Given the description of an element on the screen output the (x, y) to click on. 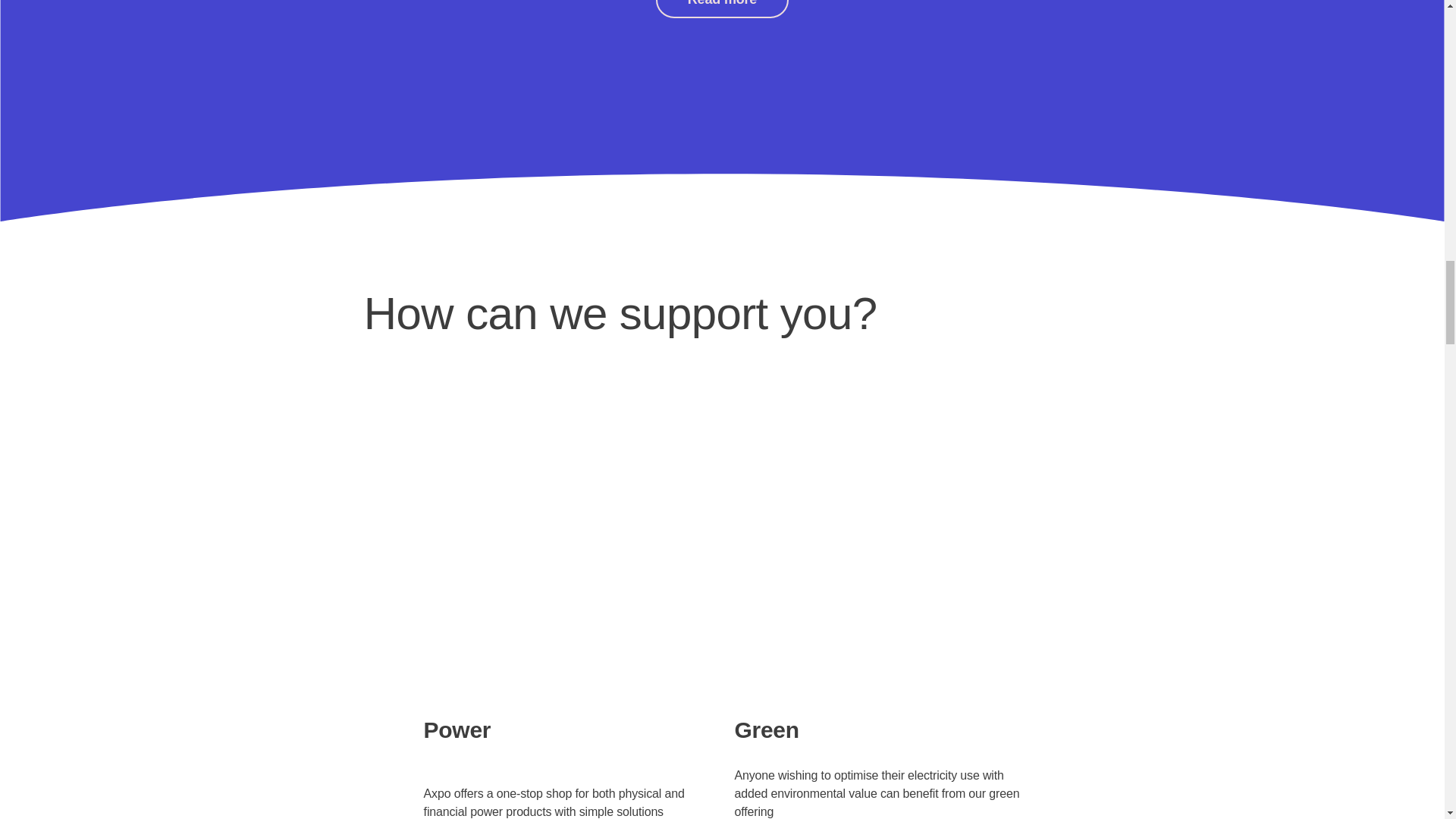
Read more (722, 9)
